Given the description of an element on the screen output the (x, y) to click on. 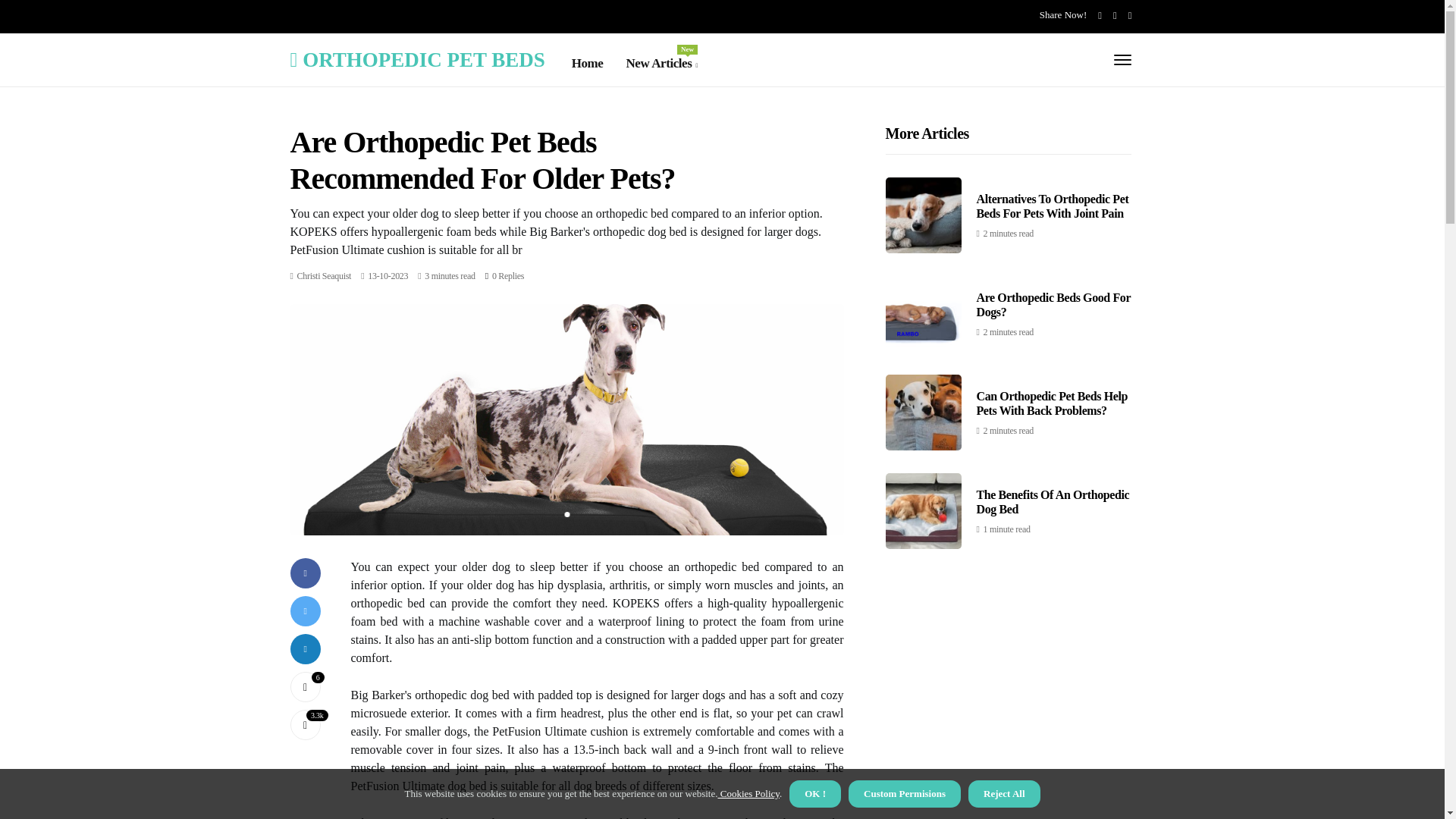
1 (661, 63)
Posts by Christi Seaquist (304, 686)
ORTHOPEDIC PET BEDS (324, 276)
Christi Seaquist (416, 59)
0 Replies (324, 276)
6 (508, 276)
